Given the description of an element on the screen output the (x, y) to click on. 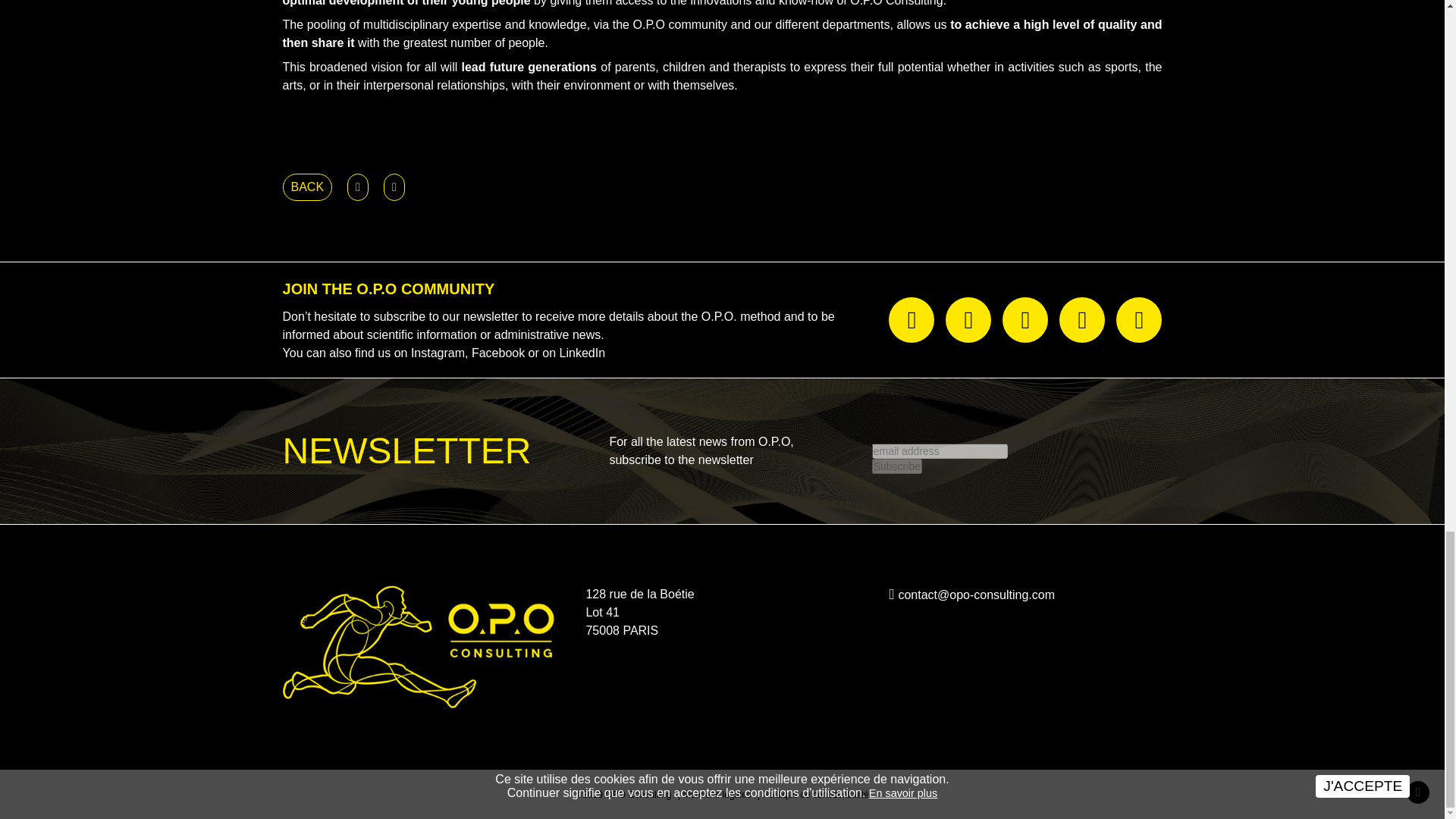
Subscribe (896, 466)
Subscribe (896, 466)
BACK (306, 186)
